Given the description of an element on the screen output the (x, y) to click on. 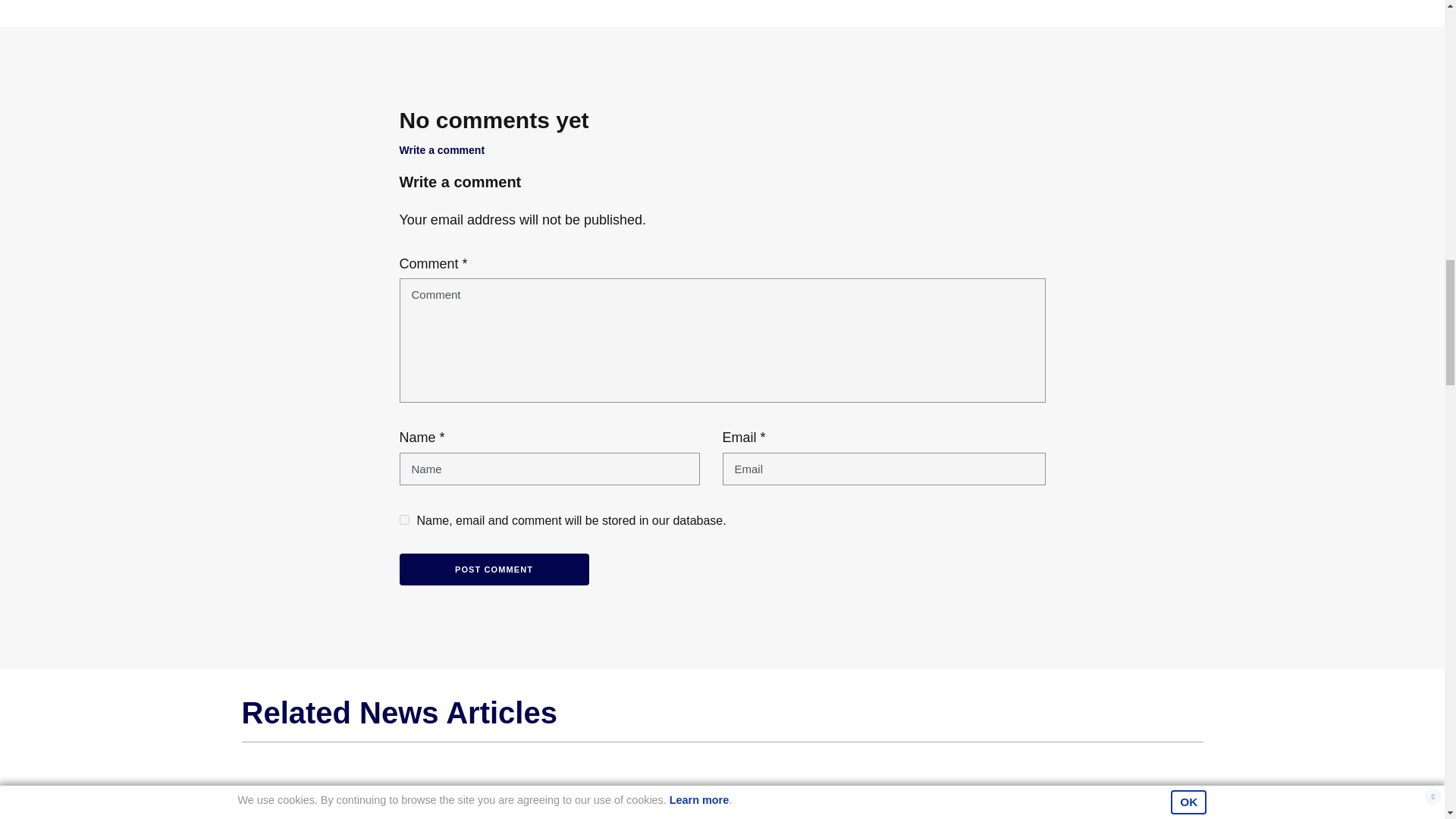
Post Comment (493, 569)
yes (403, 519)
